Given the description of an element on the screen output the (x, y) to click on. 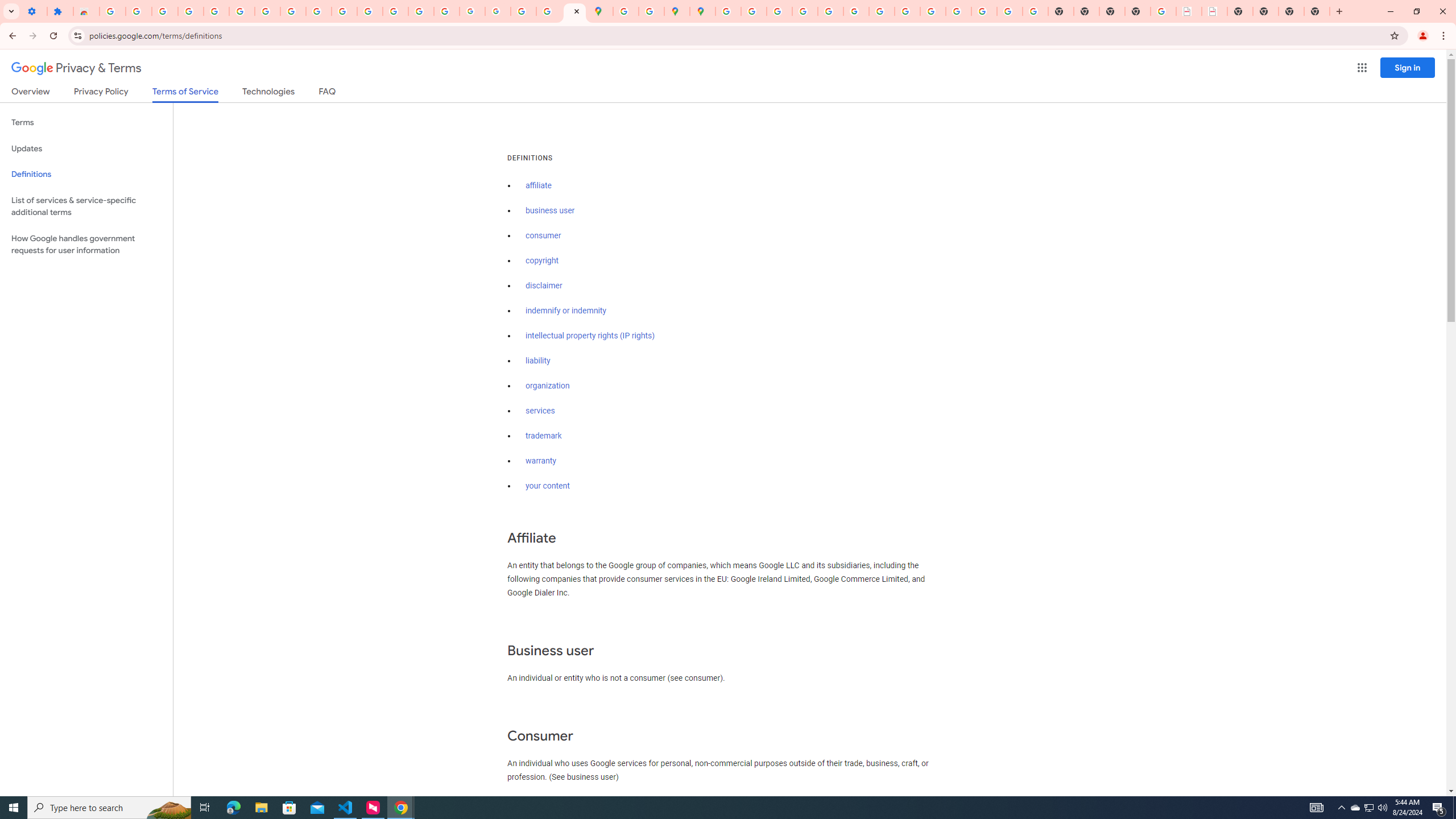
Reviews: Helix Fruit Jump Arcade Game (86, 11)
BAE Systems Brasil | BAE Systems (1213, 11)
organization (547, 385)
warranty (540, 461)
Google Maps (600, 11)
New Tab (1137, 11)
services (539, 411)
Sign in - Google Accounts (242, 11)
Delete photos & videos - Computer - Google Photos Help (165, 11)
